Given the description of an element on the screen output the (x, y) to click on. 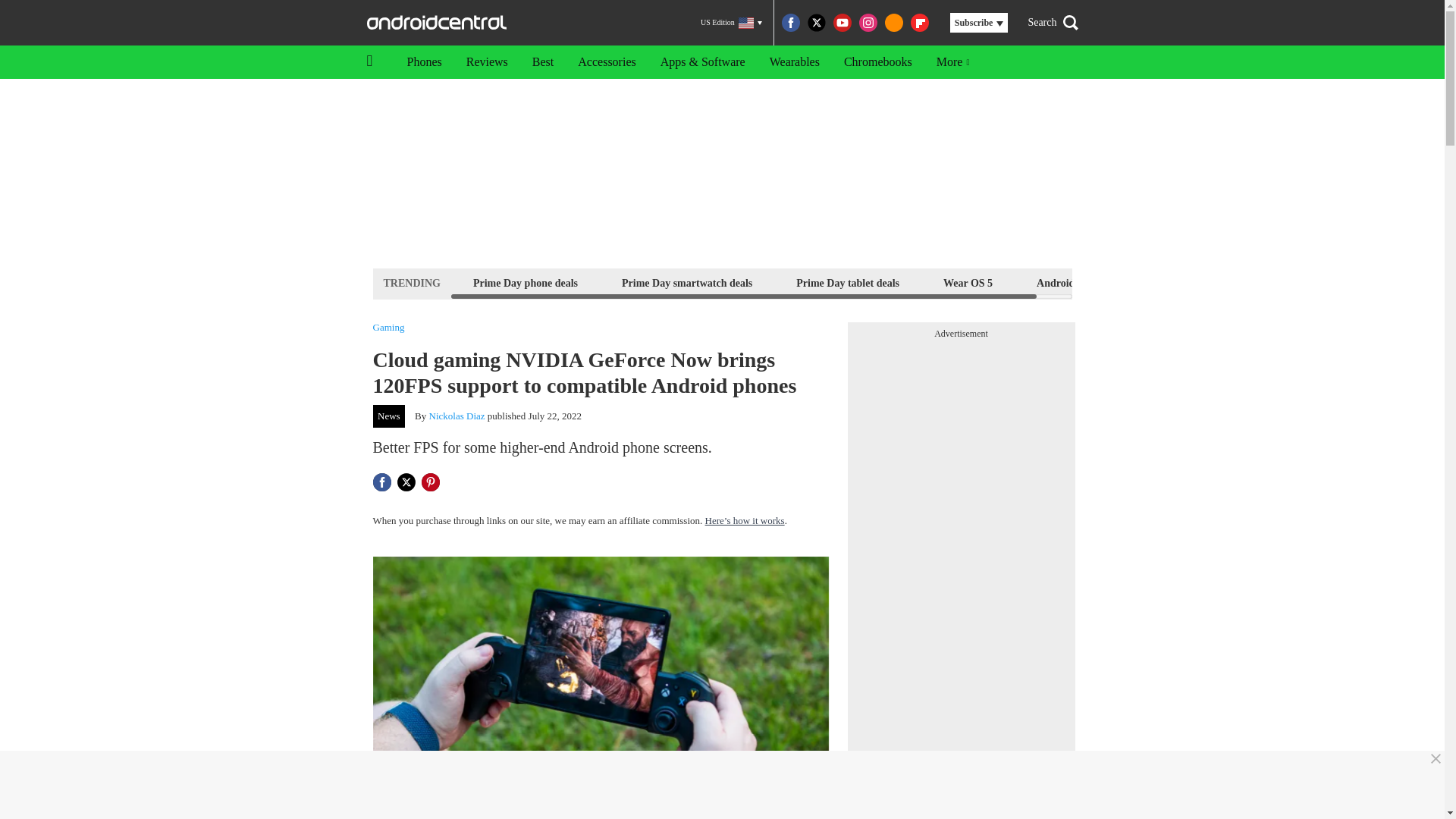
Prime Day phone deals (525, 282)
Chromebooks (877, 61)
Wear OS 5 (967, 282)
Best (542, 61)
Phones (423, 61)
Gaming (388, 327)
Reviews (486, 61)
Prime Day smartwatch deals (686, 282)
Android 15 (1061, 282)
Wearables (794, 61)
US Edition (731, 22)
